Given the description of an element on the screen output the (x, y) to click on. 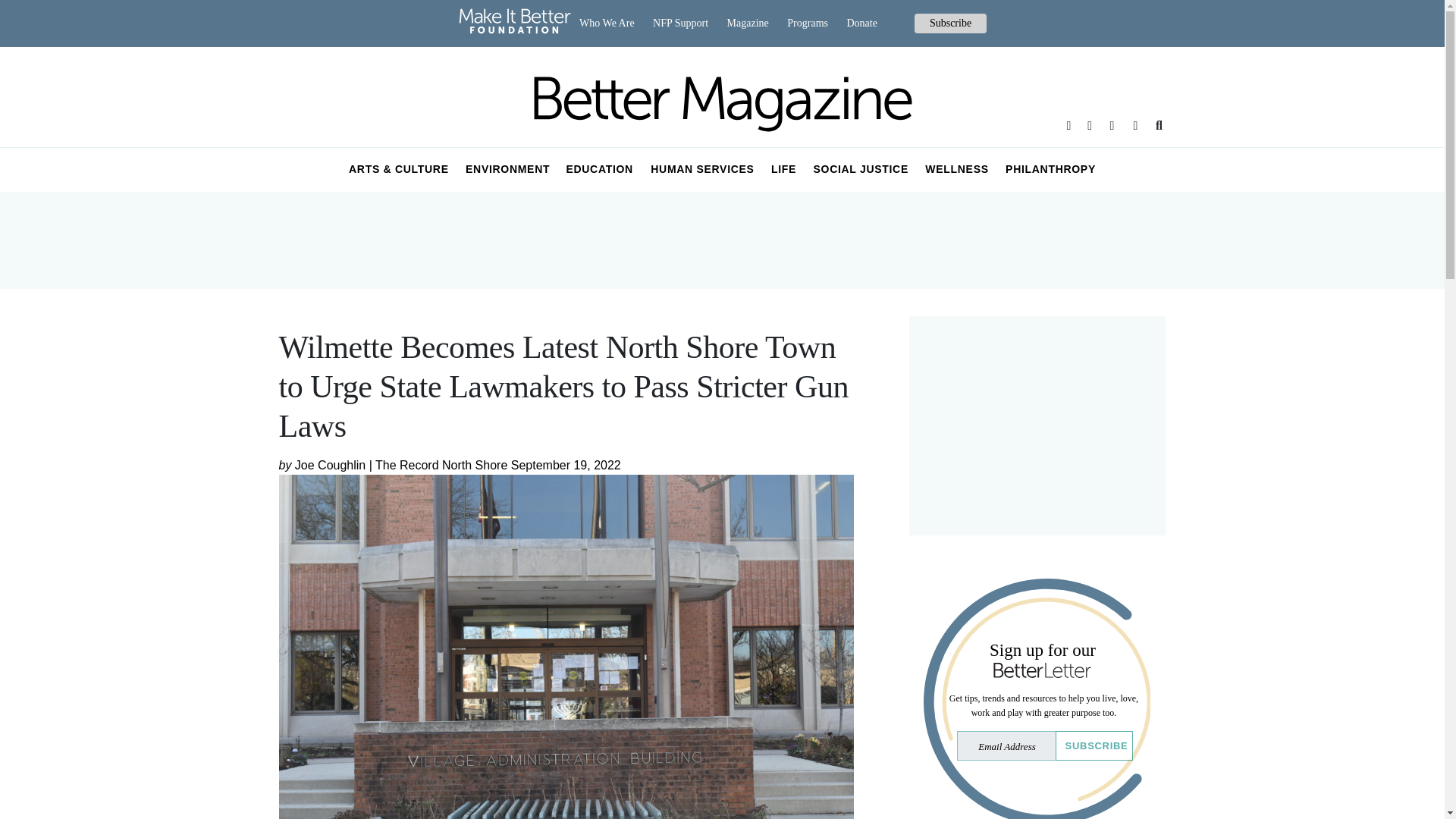
ENVIRONMENT (508, 169)
HUMAN SERVICES (702, 169)
EDUCATION (599, 169)
3rd party ad content (721, 239)
WELLNESS (957, 169)
SOCIAL JUSTICE (861, 169)
LIFE (783, 169)
PHILANTHROPY (1050, 169)
3rd party ad content (1037, 425)
